Given the description of an element on the screen output the (x, y) to click on. 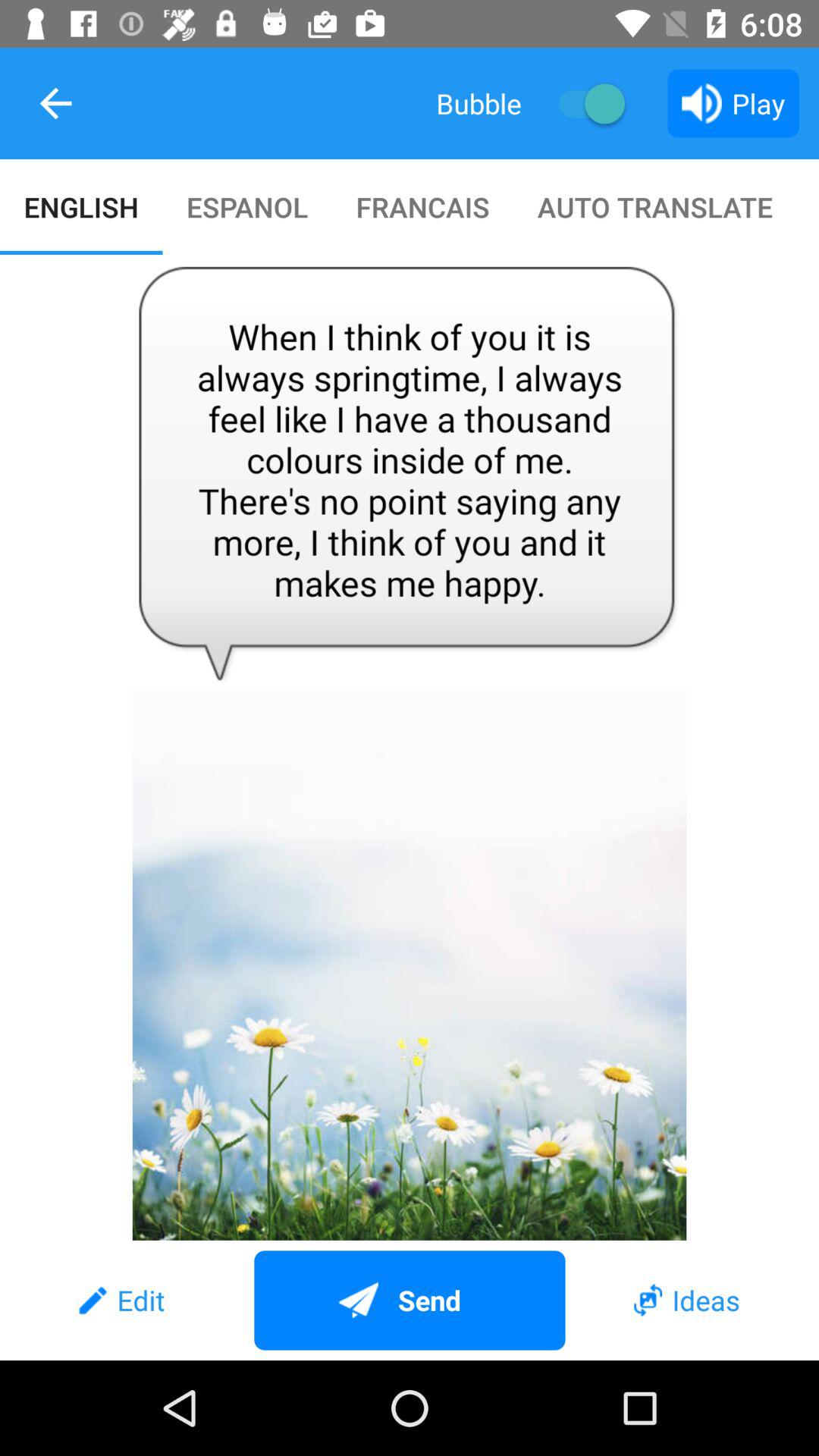
press item to the left of the bubble icon (55, 103)
